Given the description of an element on the screen output the (x, y) to click on. 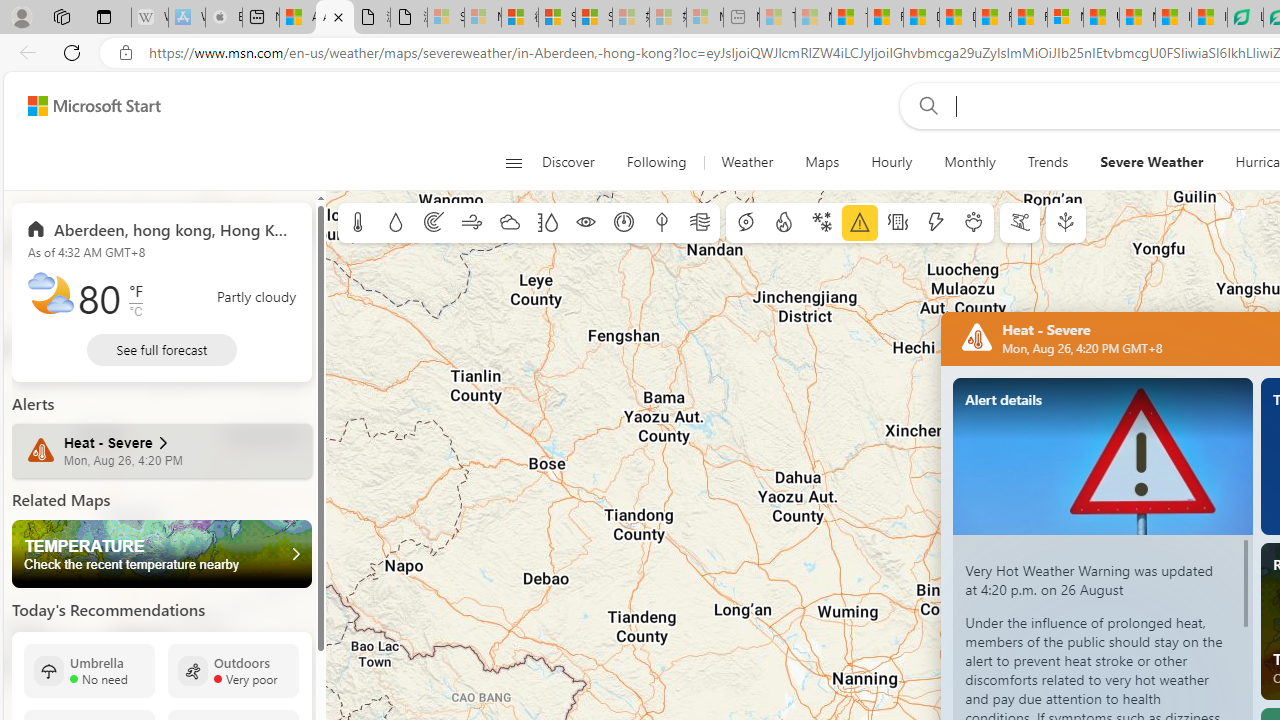
Class: button-glyph (513, 162)
Hourly (892, 162)
Outdoors Very poor (233, 670)
Microsoft Services Agreement - Sleeping (482, 17)
Food and Drink - MSN (884, 17)
Umbrella No need (89, 670)
Winter weather (821, 223)
See full forecast (161, 349)
Maps (822, 162)
US Heat Deaths Soared To Record High Last Year (1101, 17)
Sign in to your Microsoft account - Sleeping (445, 17)
Marine life - MSN - Sleeping (813, 17)
